Given the description of an element on the screen output the (x, y) to click on. 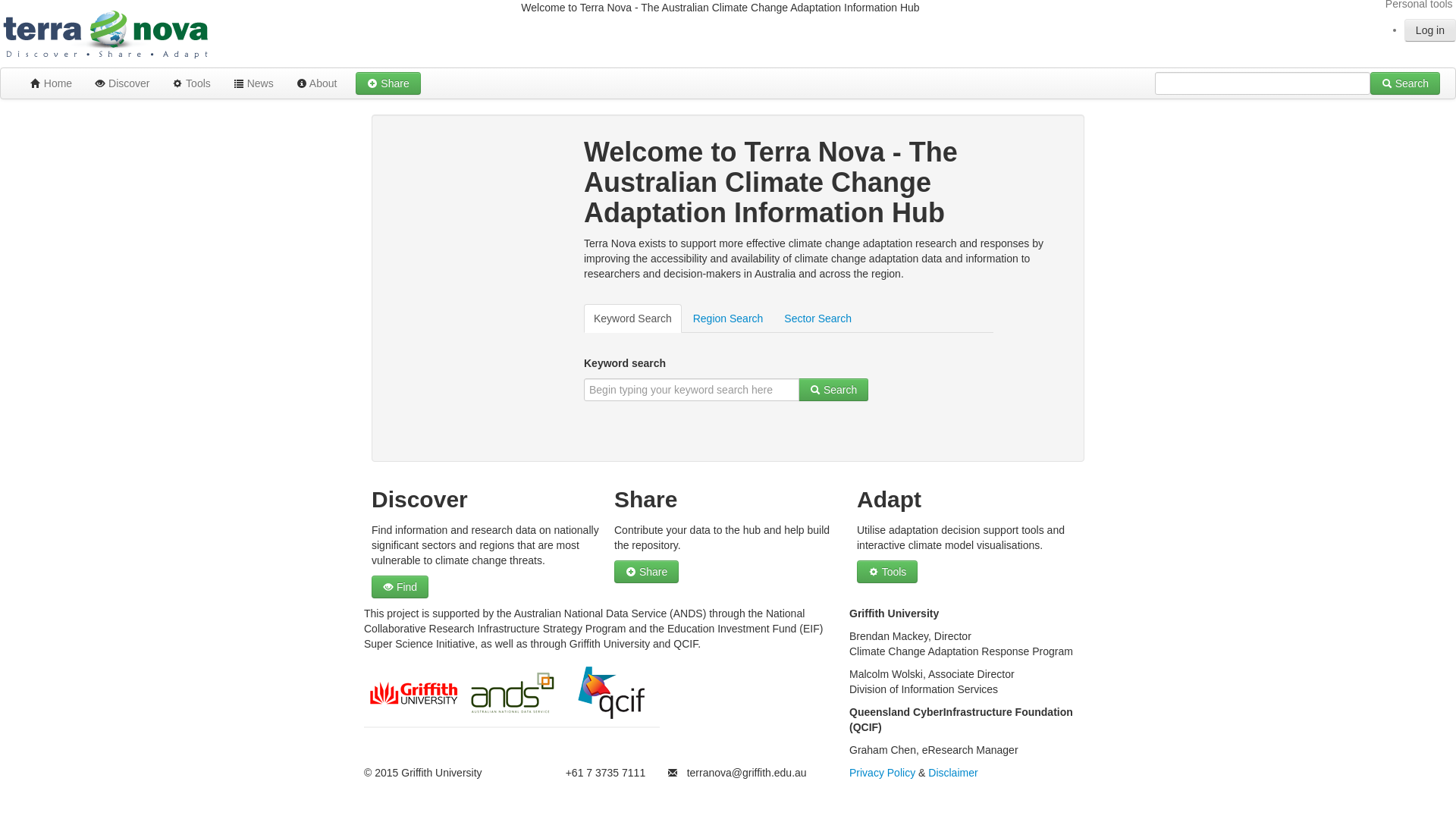
News Element type: text (253, 83)
Search Element type: text (1405, 83)
Discover Element type: text (121, 83)
Tools Element type: text (886, 571)
  Home Element type: text (49, 83)
Search Element type: text (833, 389)
Sector Search Element type: text (817, 318)
Privacy Policy Element type: text (882, 772)
Share Element type: text (387, 83)
Keyword Search Element type: text (632, 318)
Tools Element type: text (190, 83)
About Element type: text (316, 83)
Find Element type: text (399, 586)
Region Search Element type: text (728, 318)
Disclaimer Element type: text (952, 772)
Share Element type: text (646, 571)
